Given the description of an element on the screen output the (x, y) to click on. 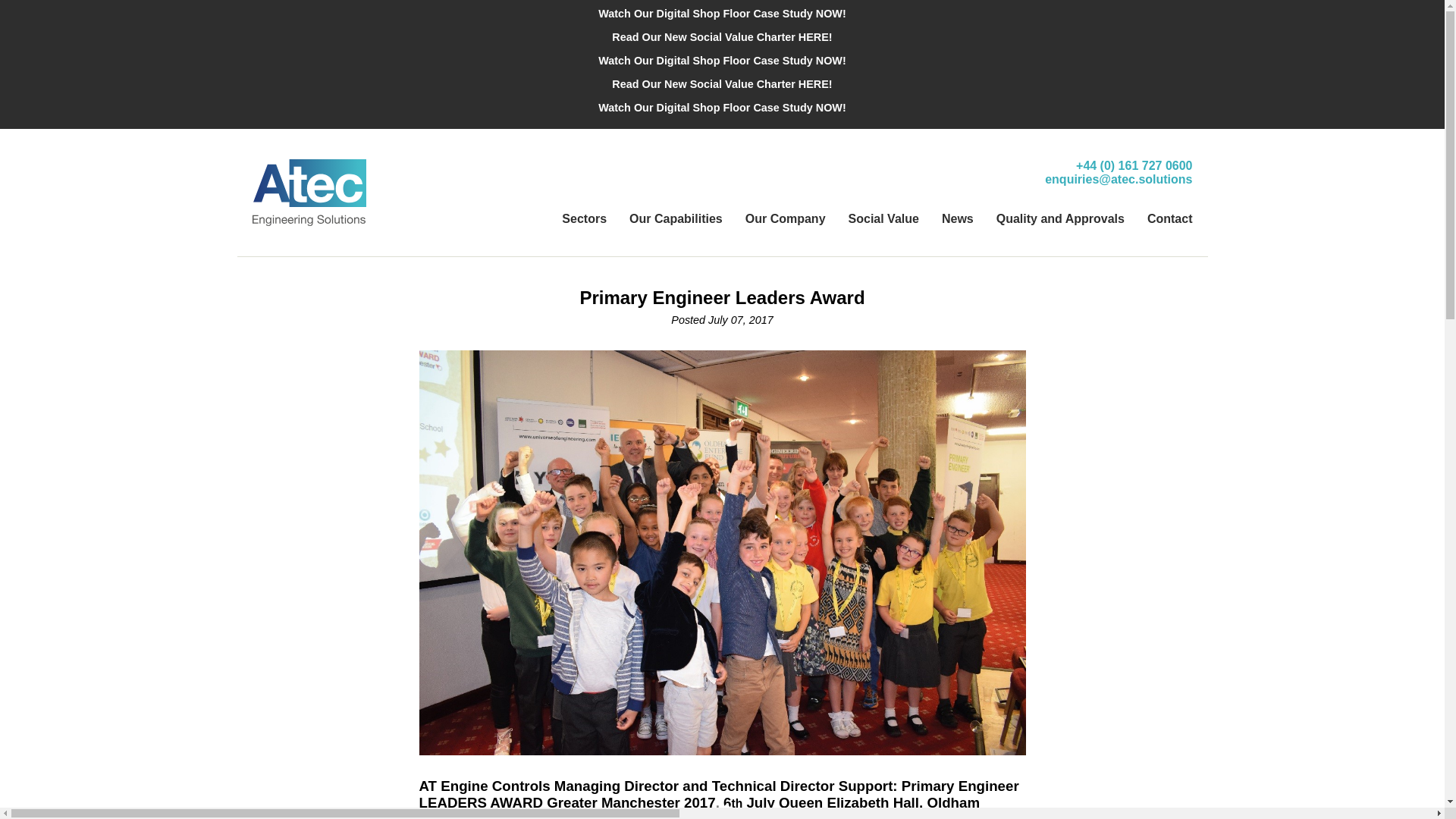
Our Company (785, 218)
Watch Our Digital Shop Floor Case Study NOW! (728, 15)
Read Our New Social Value Charter HERE! (728, 38)
Social Value (883, 218)
Watch Our Digital Shop Floor Case Study NOW! (728, 62)
2 (726, 806)
Watch Our Digital Shop Floor Case Study NOW! (728, 109)
Quality and Approvals (1059, 218)
Read Our New Social Value Charter HERE! (728, 85)
Our Capabilities (675, 218)
Sectors (584, 218)
News (958, 218)
